Given the description of an element on the screen output the (x, y) to click on. 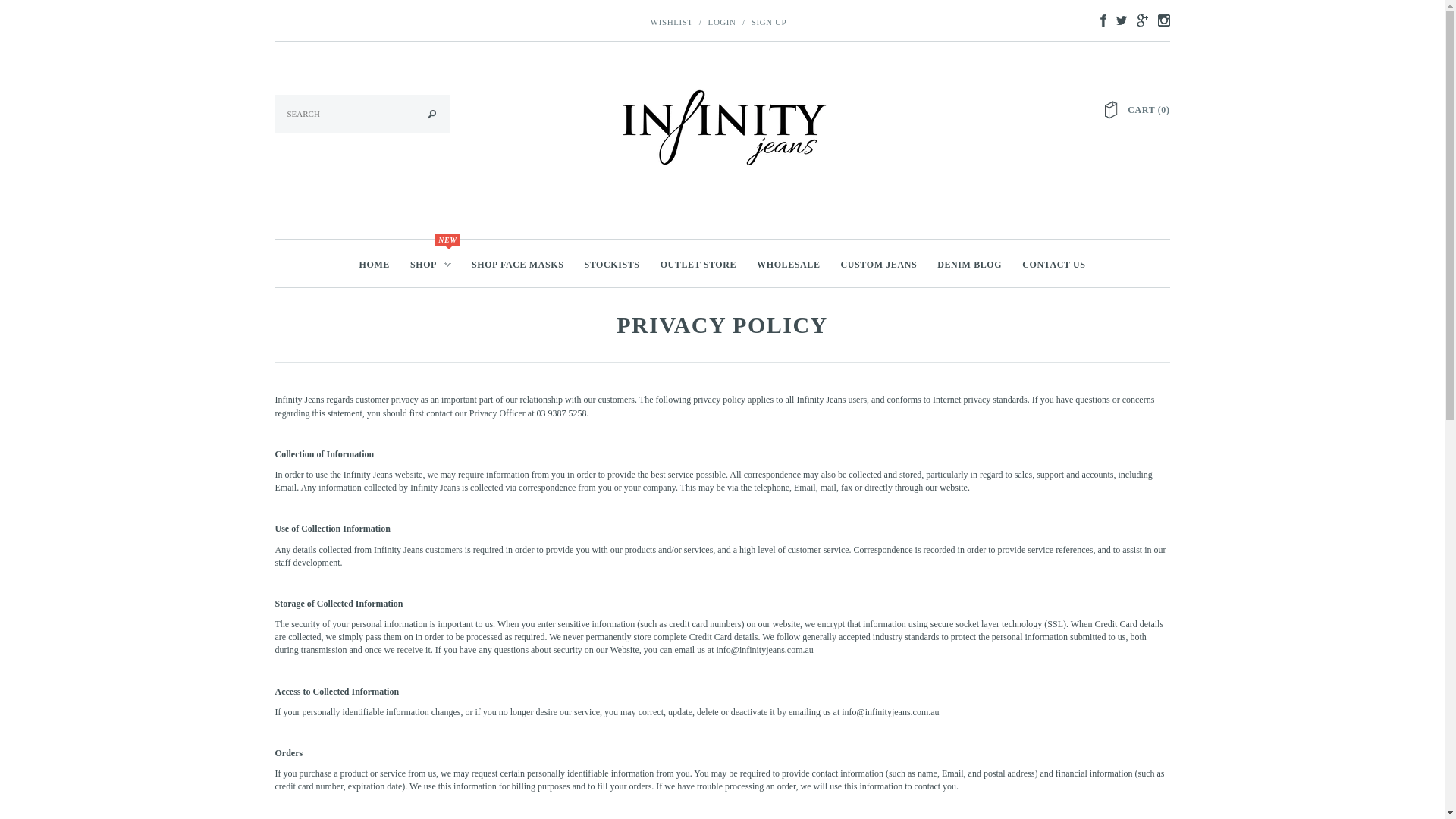
STOCKISTS Element type: text (611, 263)
InfinityJeans on Instagram Element type: hover (1159, 19)
InfinityJeans on Twitter Element type: hover (1117, 19)
CART (0) Element type: text (1148, 109)
Search Element type: text (437, 114)
InfinityJeans on Google + Element type: hover (1137, 19)
CONTACT US Element type: text (1053, 263)
WISHLIST Element type: text (671, 21)
LOGIN Element type: text (722, 21)
DENIM BLOG Element type: text (969, 263)
CUSTOM JEANS Element type: text (878, 263)
SHOP FACE MASKS Element type: text (517, 263)
SIGN UP Element type: text (768, 21)
SHOP Element type: text (430, 263)
WHOLESALE Element type: text (787, 263)
HOME Element type: text (374, 263)
InfinityJeans on Facebook Element type: hover (1098, 19)
OUTLET STORE Element type: text (698, 263)
